Given the description of an element on the screen output the (x, y) to click on. 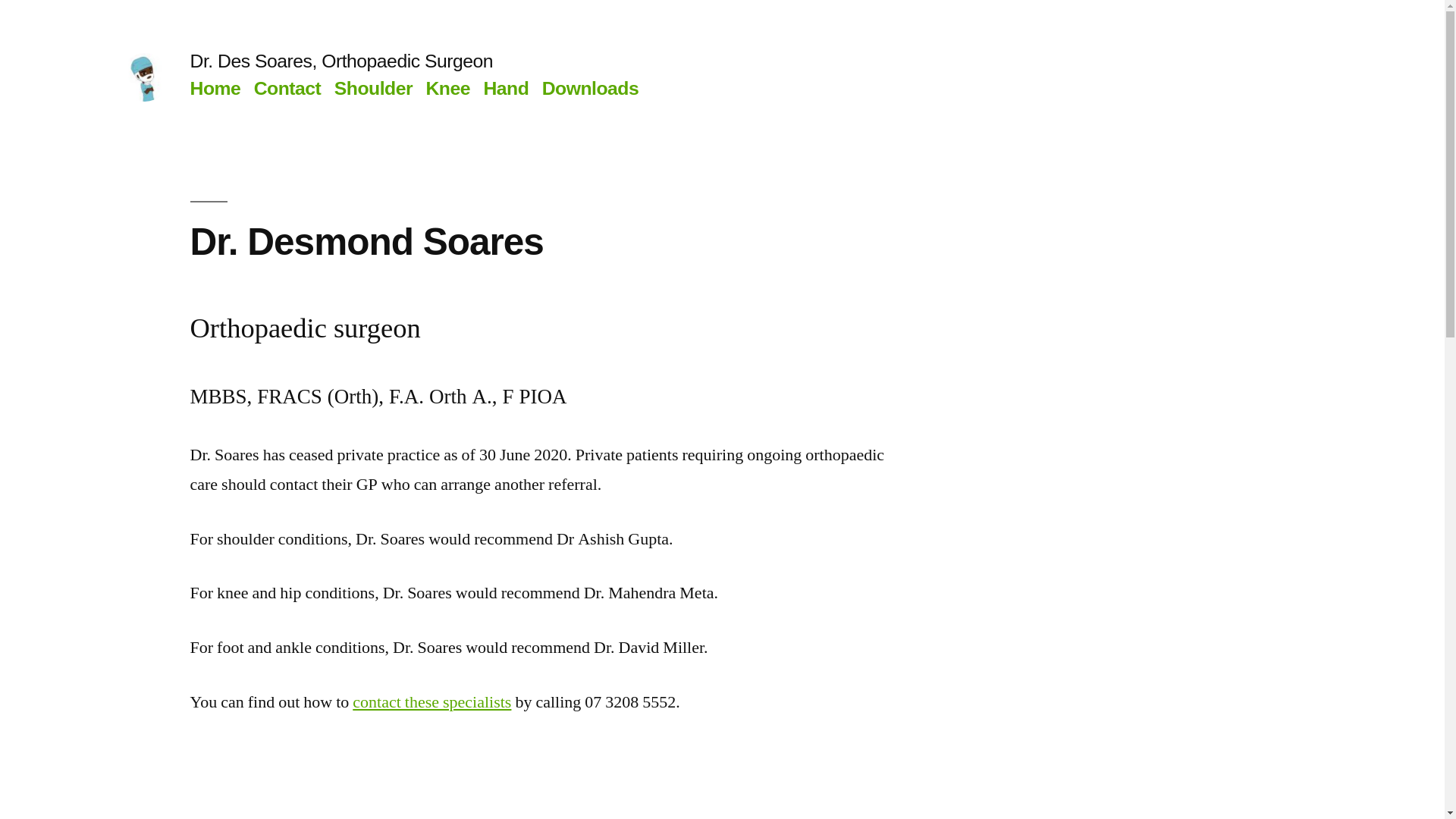
Shoulder Element type: text (373, 88)
Home Element type: text (214, 88)
Dr. Des Soares, Orthopaedic Surgeon Element type: text (340, 60)
Hand Element type: text (505, 88)
Knee Element type: text (447, 88)
contact these specialists Element type: text (431, 701)
Contact Element type: text (287, 88)
Downloads Element type: text (590, 88)
